Given the description of an element on the screen output the (x, y) to click on. 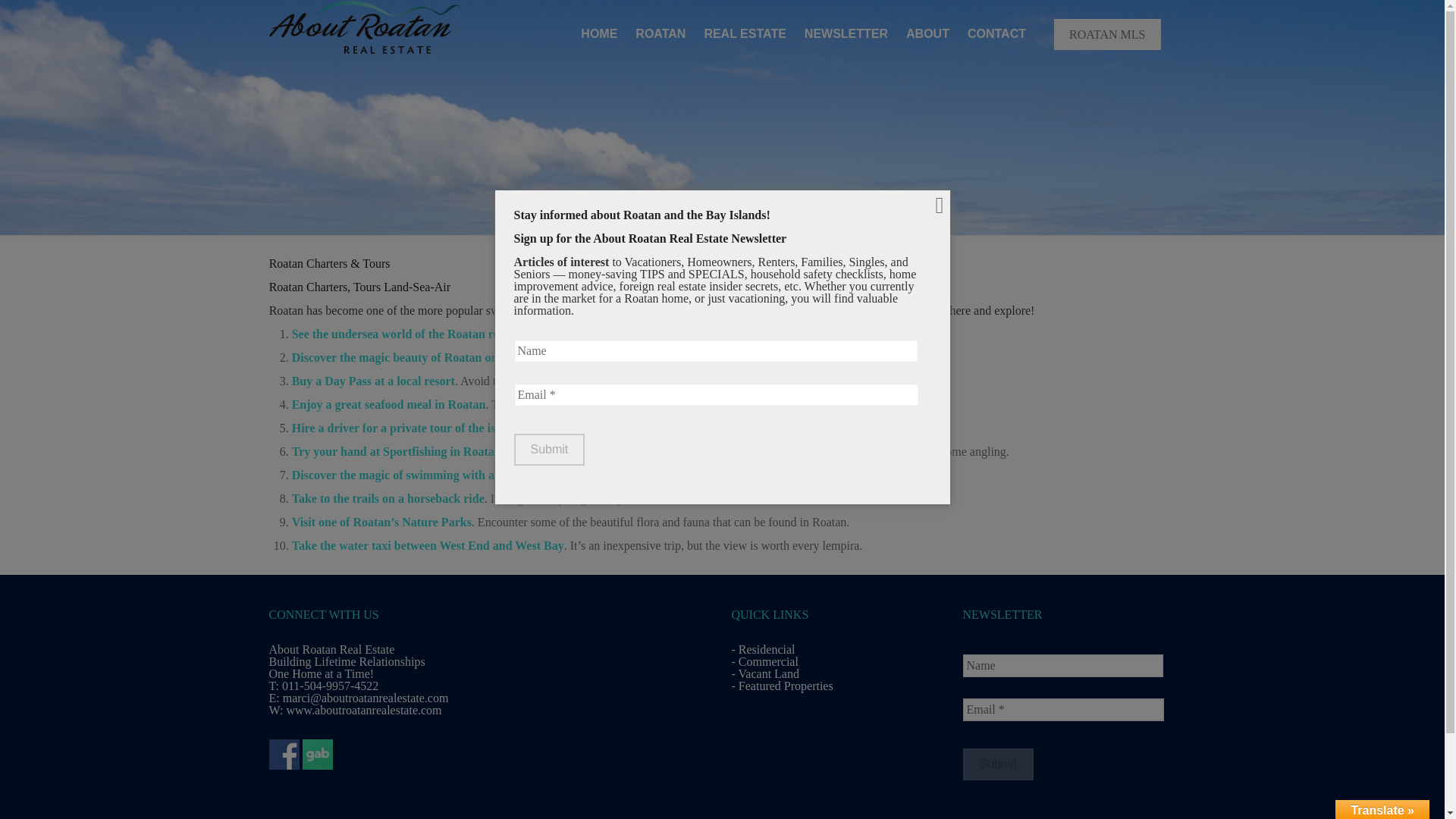
NEWSLETTER (845, 33)
Take to the trails on a horseback ride (388, 498)
Submit (549, 450)
Discover the magic of swimming with a dolphin (414, 474)
www.aboutroatanrealestate.com (363, 709)
CONTACT (996, 33)
Submit (997, 764)
www.libenn.com (660, 309)
REAL ESTATE (744, 33)
Enjoy a great seafood meal in Roatan (389, 404)
Residencial (766, 649)
Try your hand at Sportfishing in Roatan (396, 451)
ROATAN (660, 33)
Commercial (767, 661)
